Given the description of an element on the screen output the (x, y) to click on. 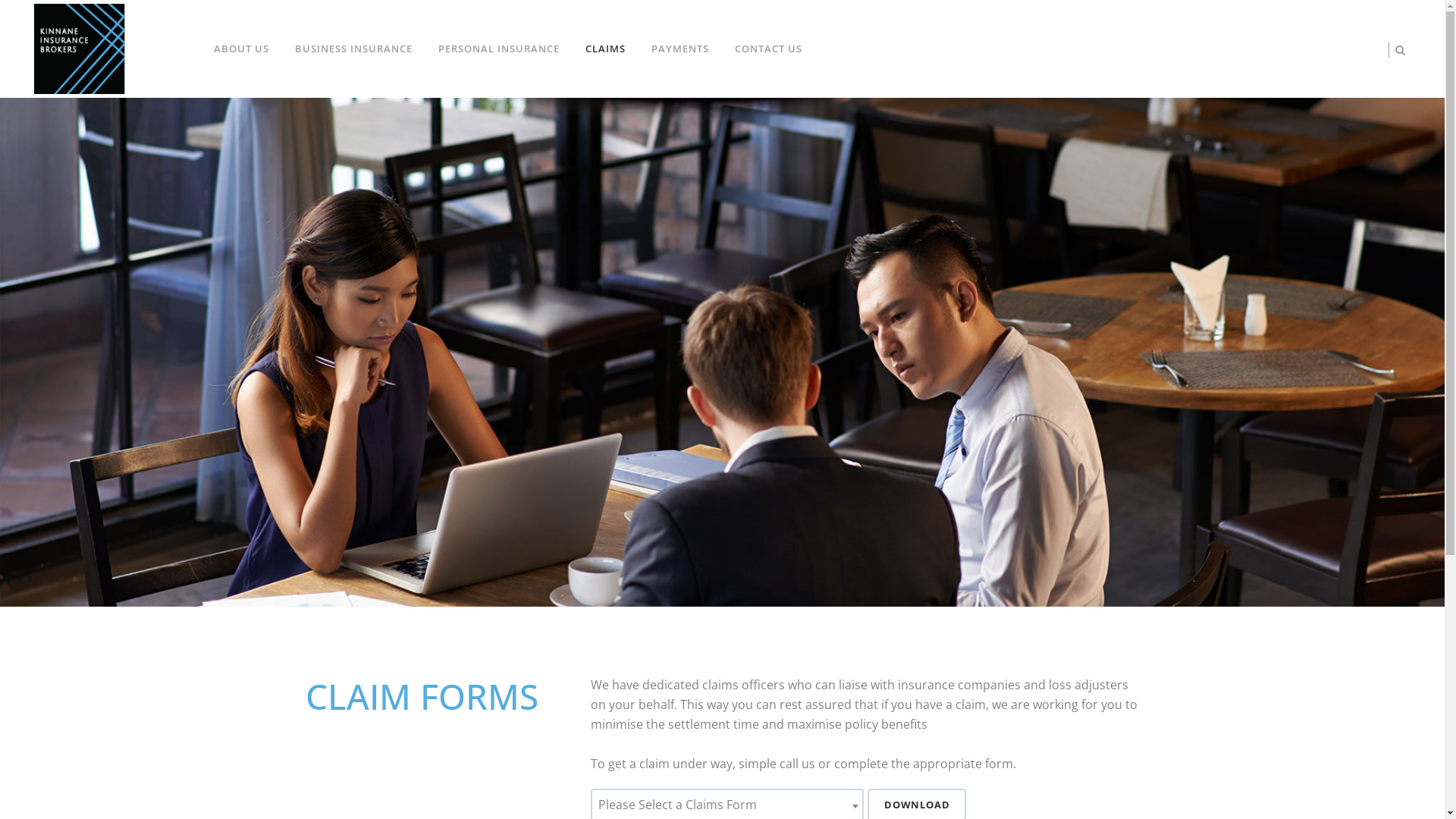
CLAIMS Element type: text (605, 48)
ABOUT US Element type: text (241, 48)
CONTACT US Element type: text (768, 48)
BUSINESS INSURANCE Element type: text (353, 48)
PERSONAL INSURANCE Element type: text (498, 48)
PAYMENTS Element type: text (679, 48)
